Given the description of an element on the screen output the (x, y) to click on. 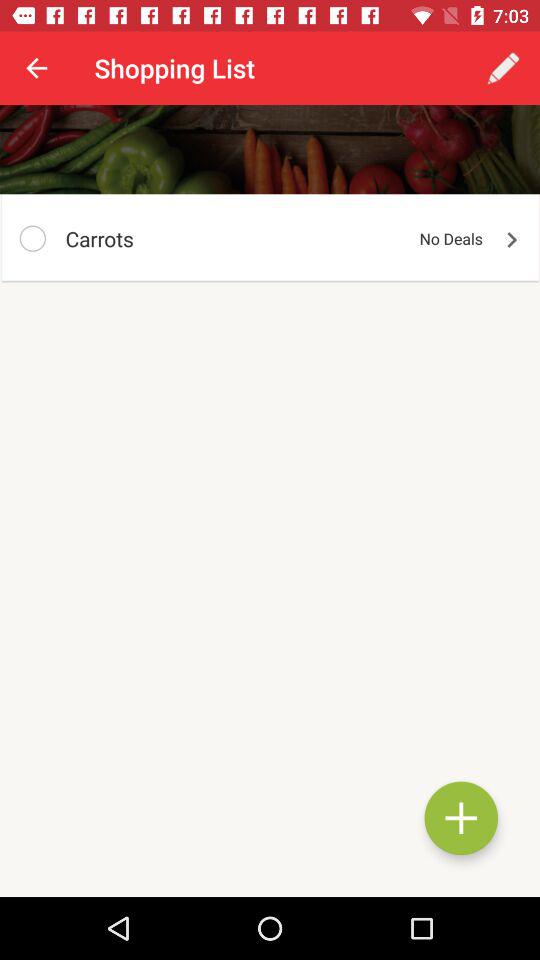
add a shopping list element (461, 818)
